Given the description of an element on the screen output the (x, y) to click on. 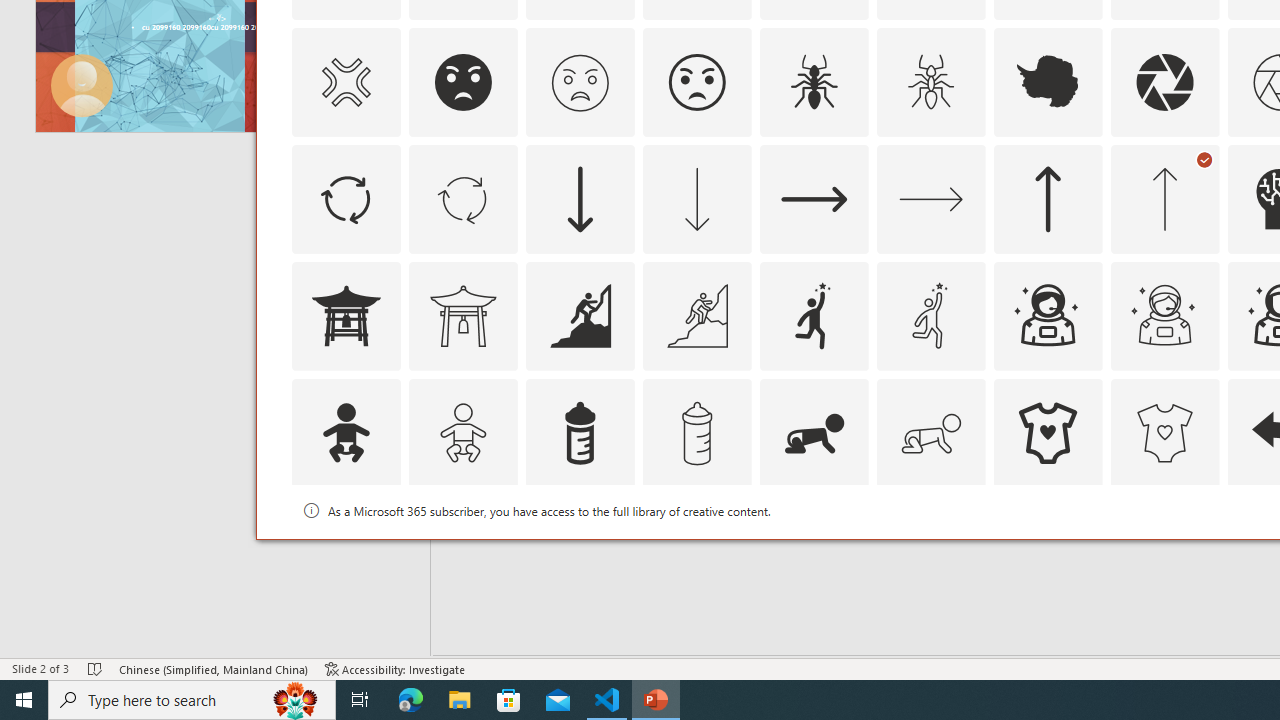
AutomationID: Icons_BabyBottle_M (696, 432)
AutomationID: Icons_BabyOnesie_M (1164, 432)
AutomationID: Icons_Badge3 (696, 550)
AutomationID: Icons_ArrowUp_M (1164, 198)
AutomationID: Icons_Ant (813, 82)
AutomationID: Icons_ArrowDown_M (696, 198)
AutomationID: Icons_Aperture (1164, 82)
